Given the description of an element on the screen output the (x, y) to click on. 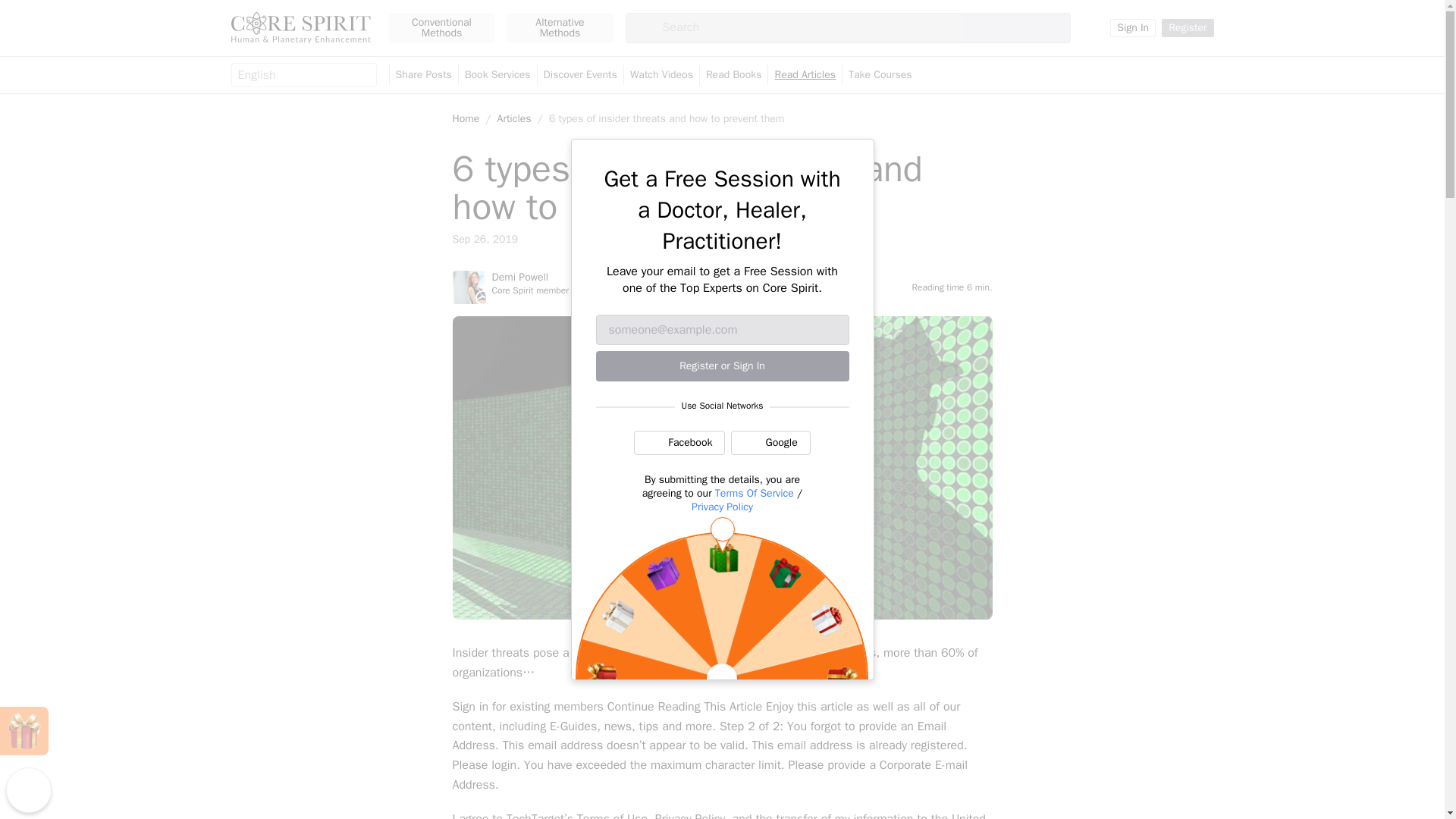
Alternative Methods (559, 28)
Conventional Methods (441, 28)
Sign In (1132, 27)
Back to top (27, 790)
Book Services (497, 75)
Share Posts (423, 75)
Register (1186, 27)
